Given the description of an element on the screen output the (x, y) to click on. 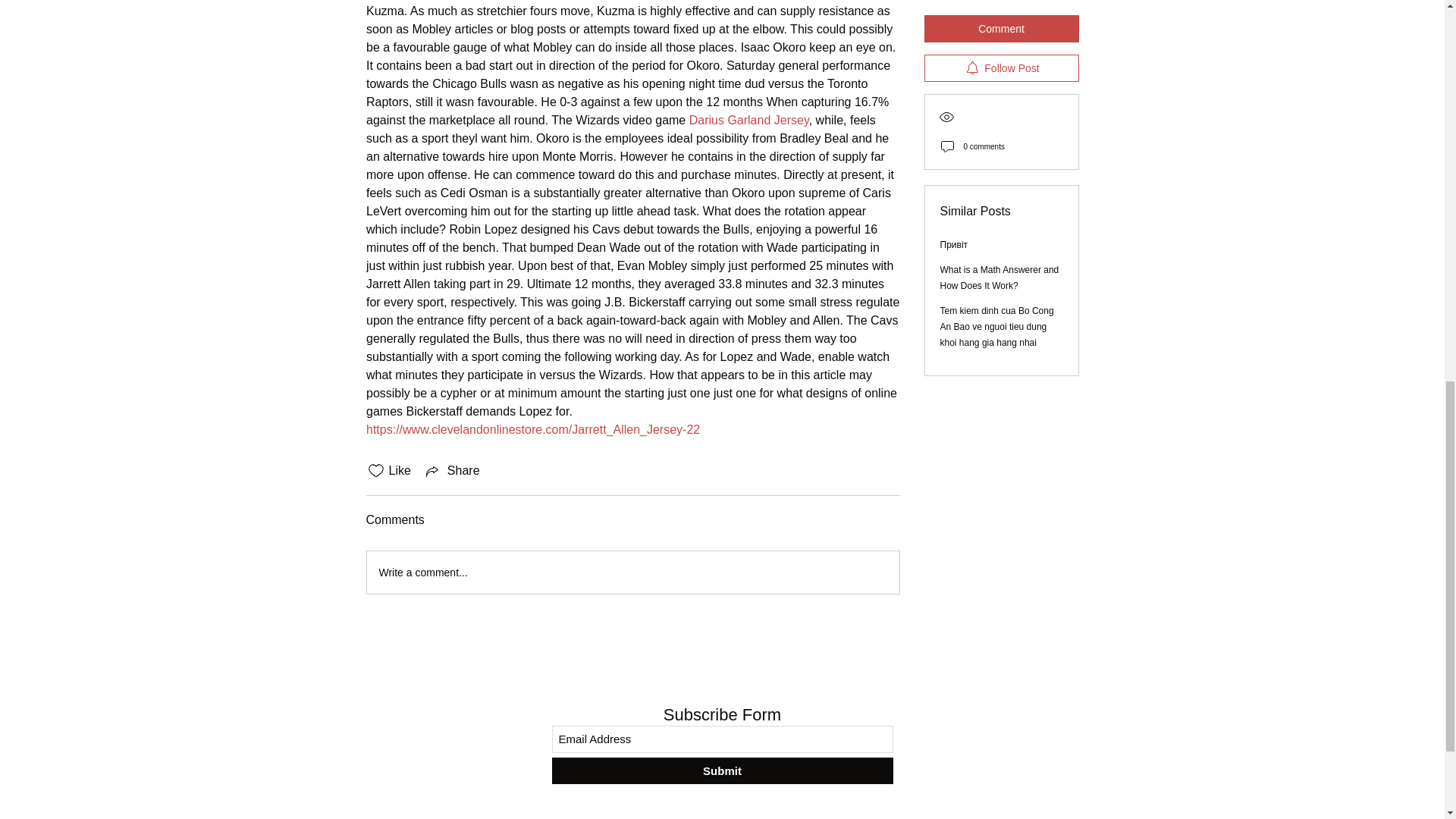
Share (451, 470)
Darius Garland Jersey (748, 119)
Write a comment... (632, 572)
Submit (722, 770)
